Given the description of an element on the screen output the (x, y) to click on. 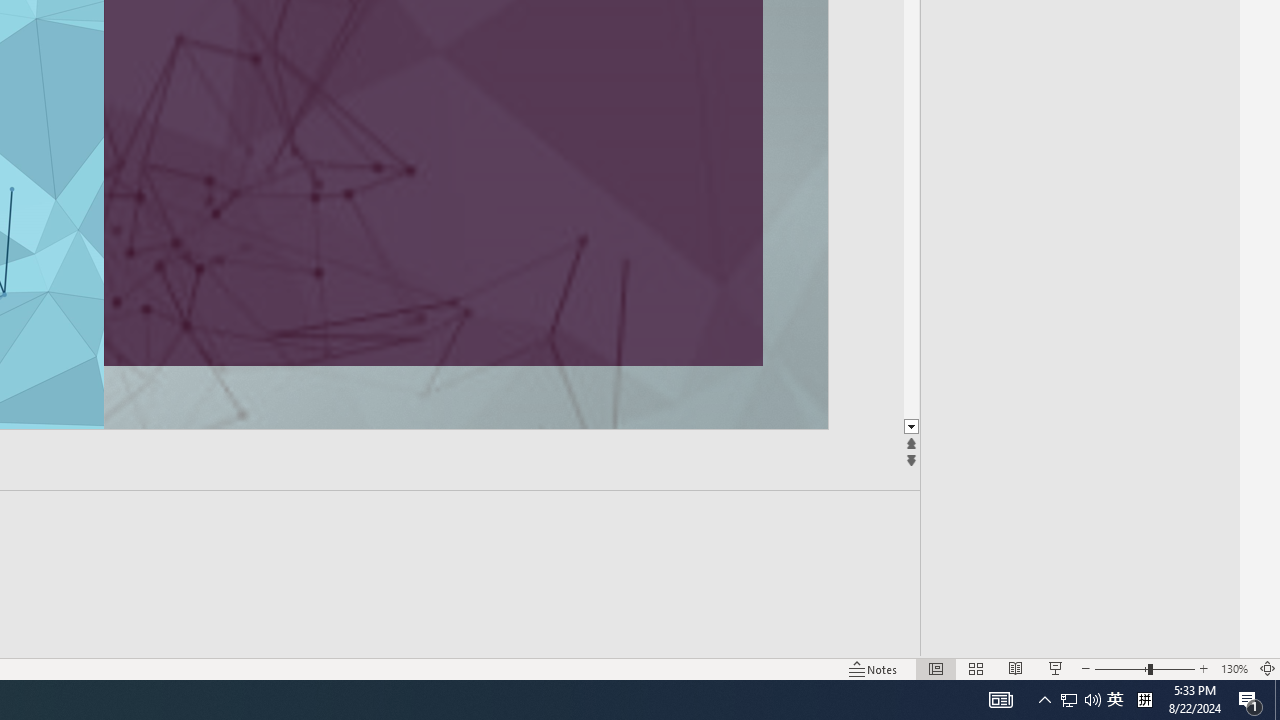
Zoom Out (1121, 668)
Notes  (874, 668)
Zoom (1144, 668)
Slide Sorter (975, 668)
Reading View (1015, 668)
Zoom In (1204, 668)
Normal (936, 668)
Zoom 130% (1234, 668)
Zoom to Fit  (1267, 668)
Line down (911, 427)
